Given the description of an element on the screen output the (x, y) to click on. 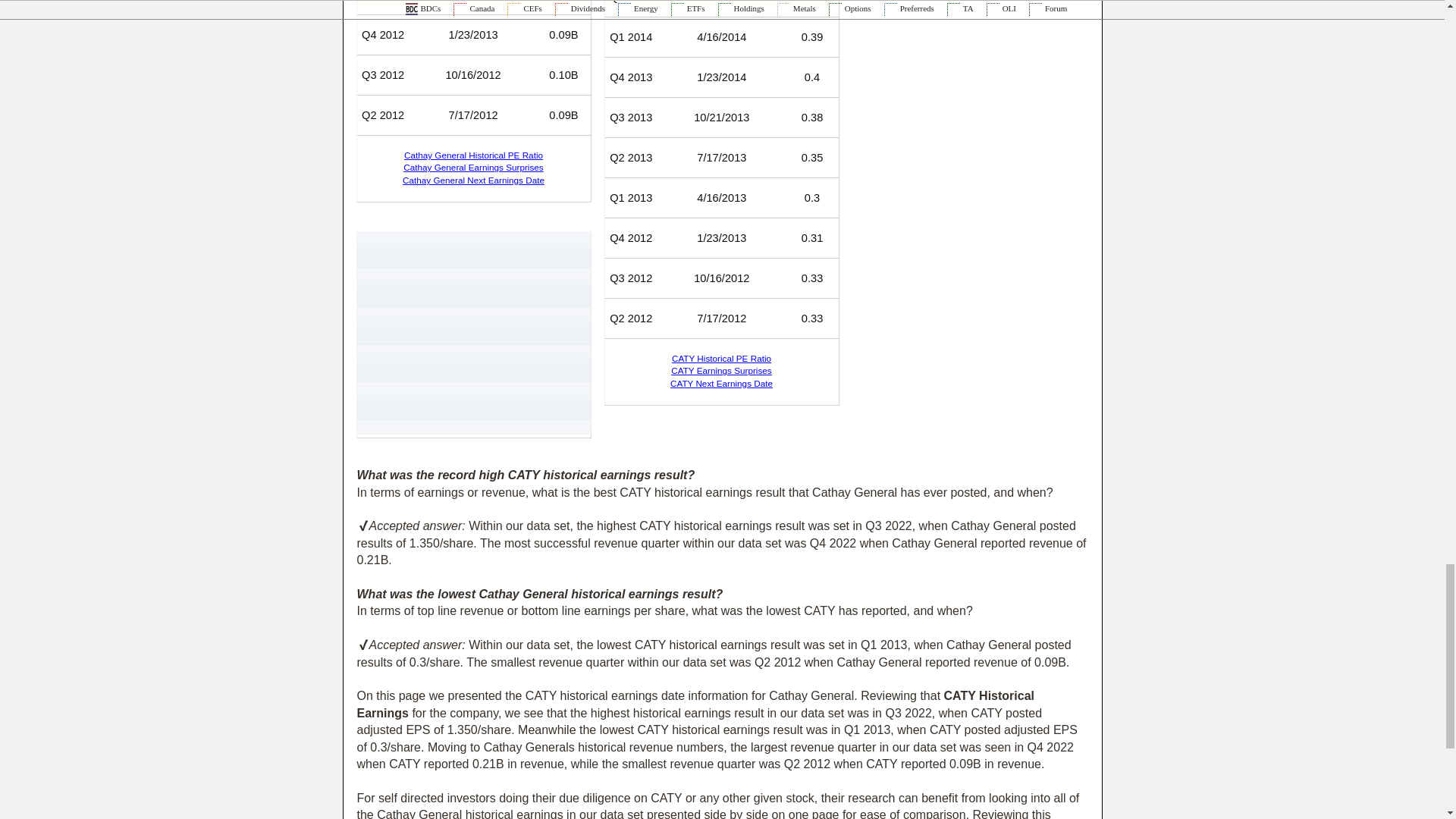
Cathay General Historical PE Ratio (473, 154)
Cathay General Next Earnings Date (473, 180)
CATY Historical PE Ratio (721, 357)
CATY Earnings Surprises (721, 370)
Cathay General Earnings Surprises (473, 166)
CATY Next Earnings Date (721, 383)
